Given the description of an element on the screen output the (x, y) to click on. 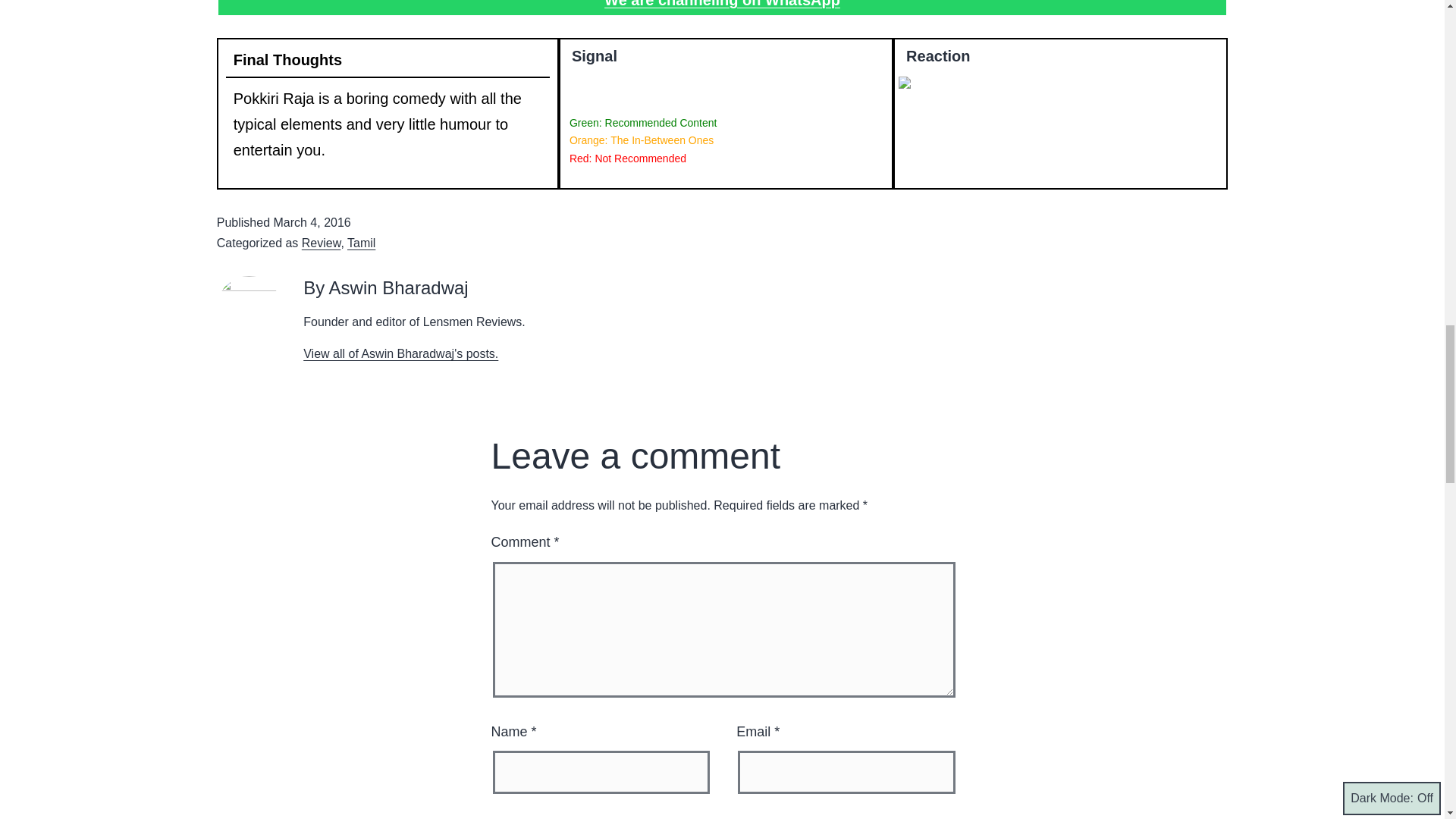
We are channeling on WhatsApp (722, 4)
Review (320, 242)
View all of Aswin Bharadwaj's posts. (399, 353)
Tamil (361, 242)
